Given the description of an element on the screen output the (x, y) to click on. 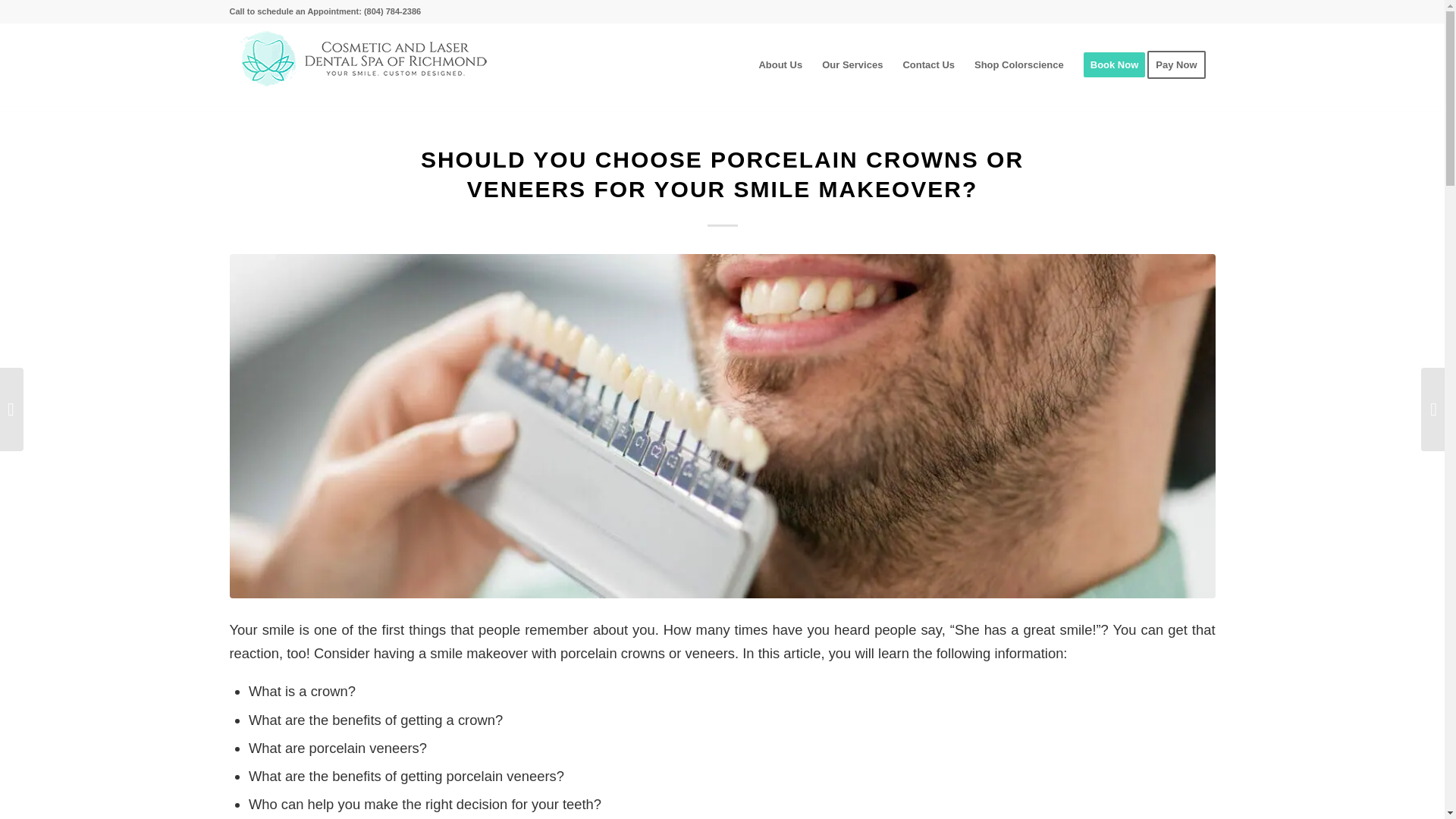
Book Now (1115, 65)
Shop Colorscience (1018, 65)
Our Services (852, 65)
Book Now (1115, 65)
Shop Colorscience (1018, 65)
Our Services (852, 65)
